Given the description of an element on the screen output the (x, y) to click on. 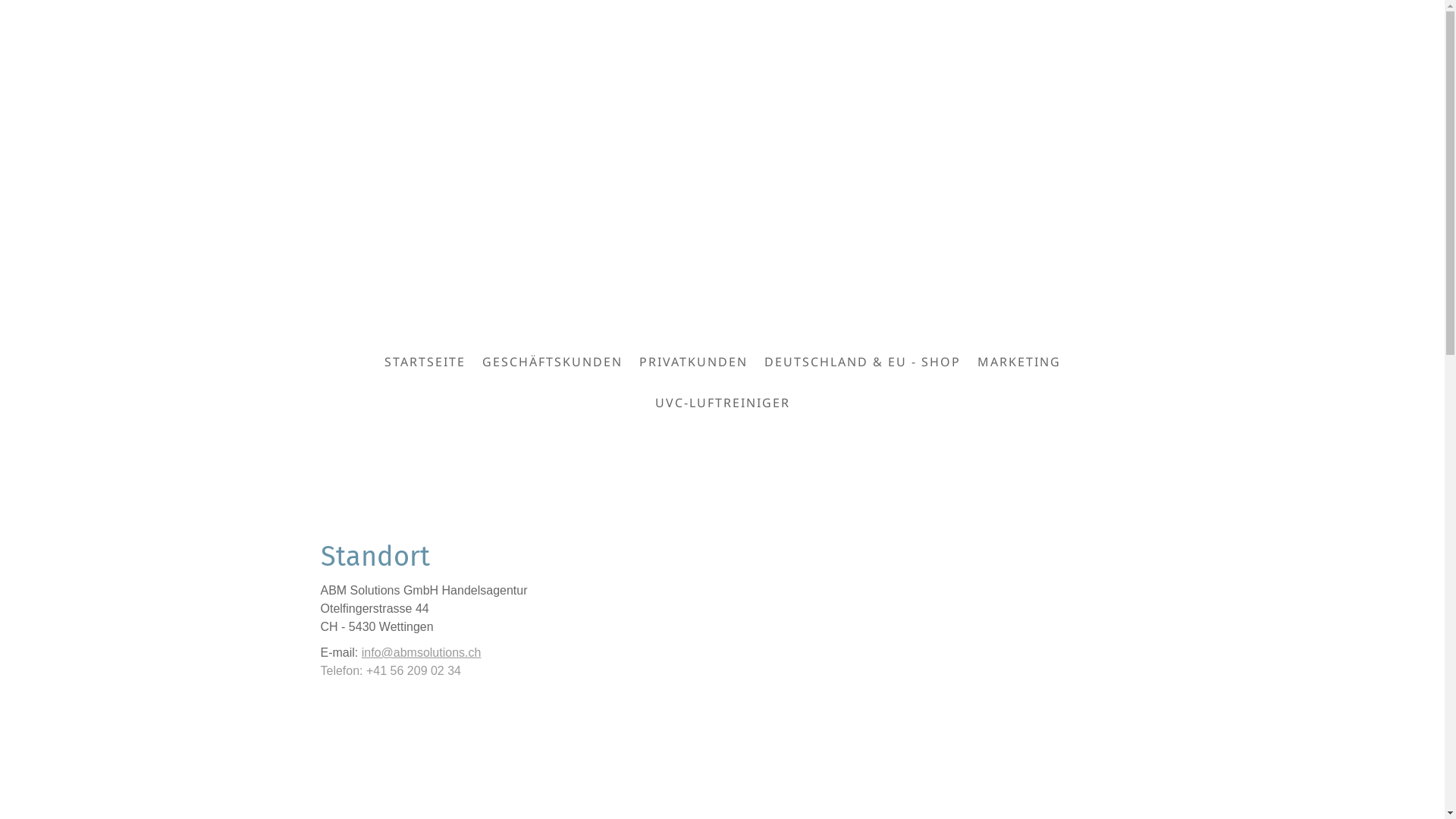
info@abmsolutions.ch Element type: text (421, 652)
UVC-LUFTREINIGER Element type: text (721, 402)
PRIVATKUNDEN Element type: text (693, 361)
DEUTSCHLAND & EU - SHOP Element type: text (861, 361)
MARKETING Element type: text (1019, 361)
STARTSEITE Element type: text (424, 361)
